Given the description of an element on the screen output the (x, y) to click on. 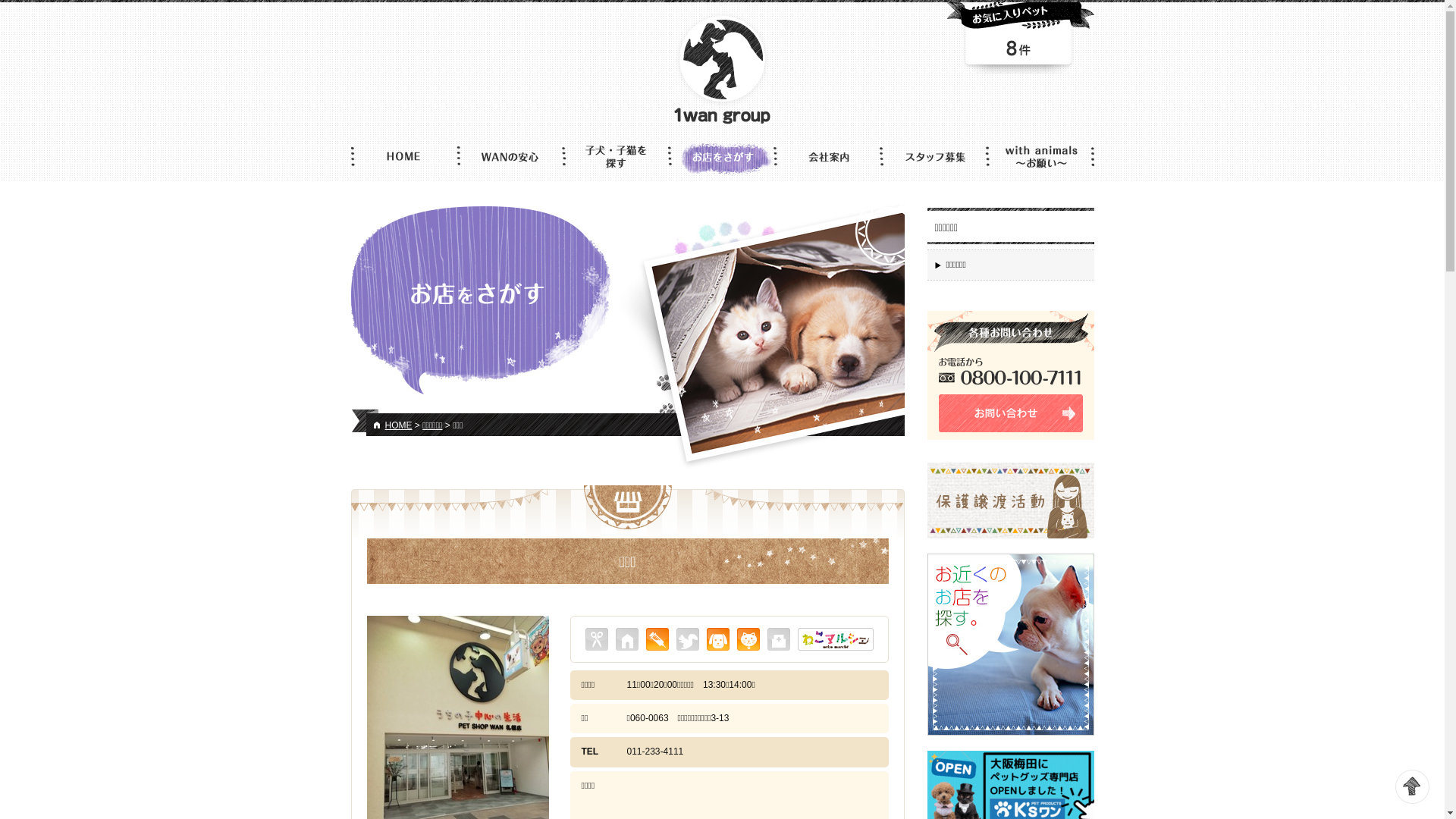
HOME Element type: text (398, 425)
